Given the description of an element on the screen output the (x, y) to click on. 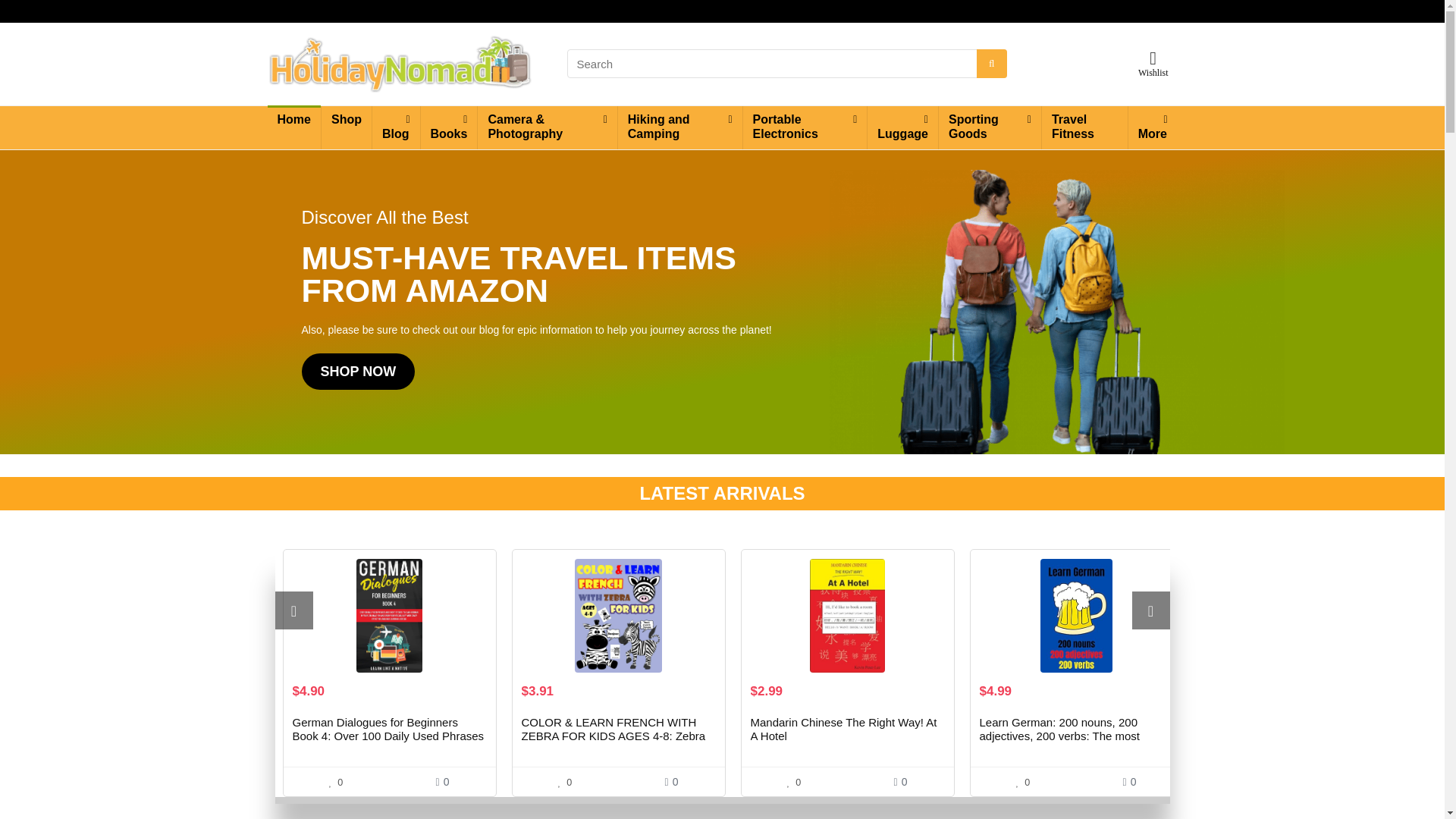
Shop (346, 120)
Home (293, 120)
Blog (396, 127)
